Given the description of an element on the screen output the (x, y) to click on. 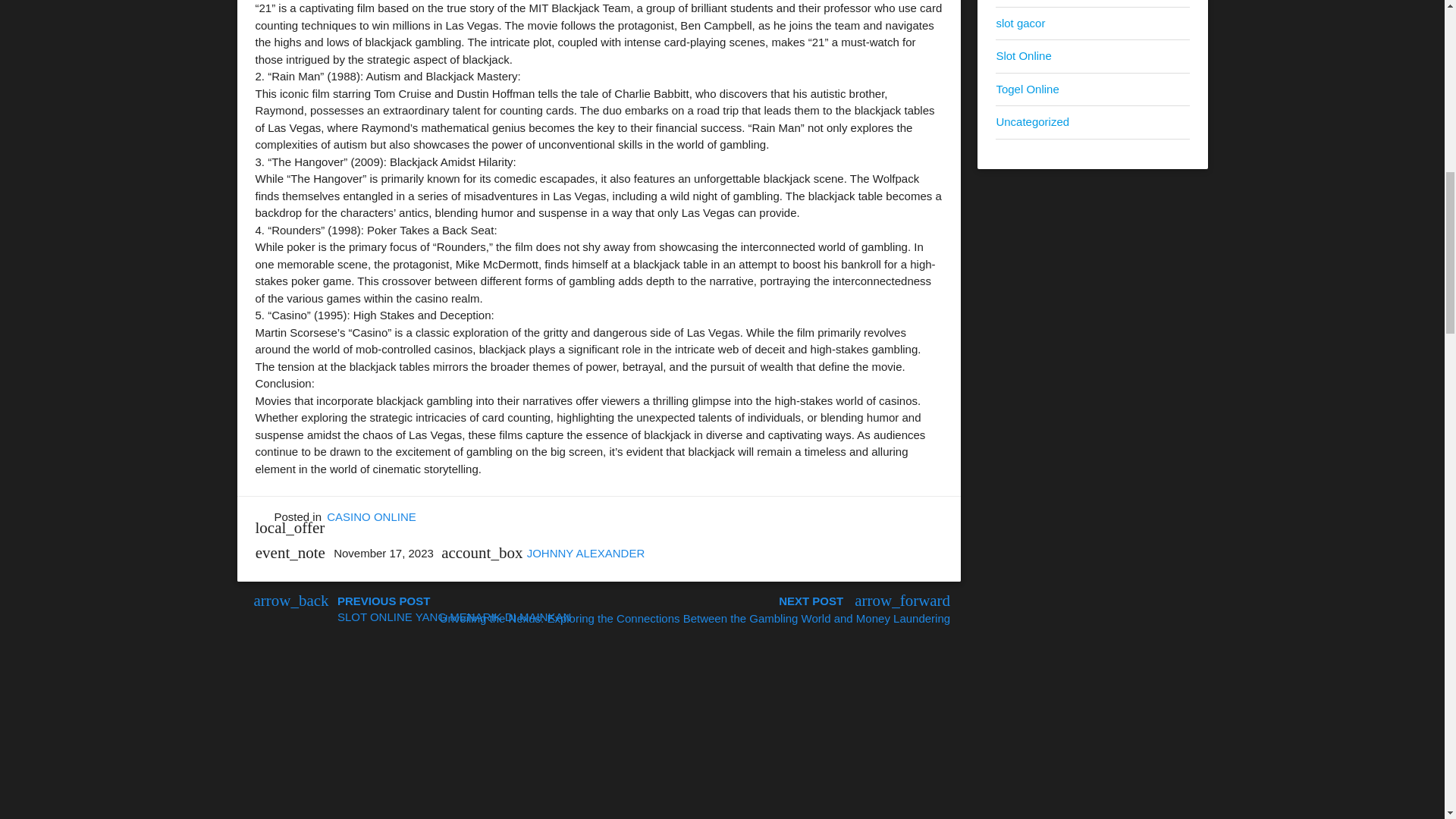
CASINO ONLINE (371, 516)
Togel Online (1026, 88)
JOHNNY ALEXANDER (586, 553)
Slot Online (1023, 55)
slot gacor (1020, 22)
